Given the description of an element on the screen output the (x, y) to click on. 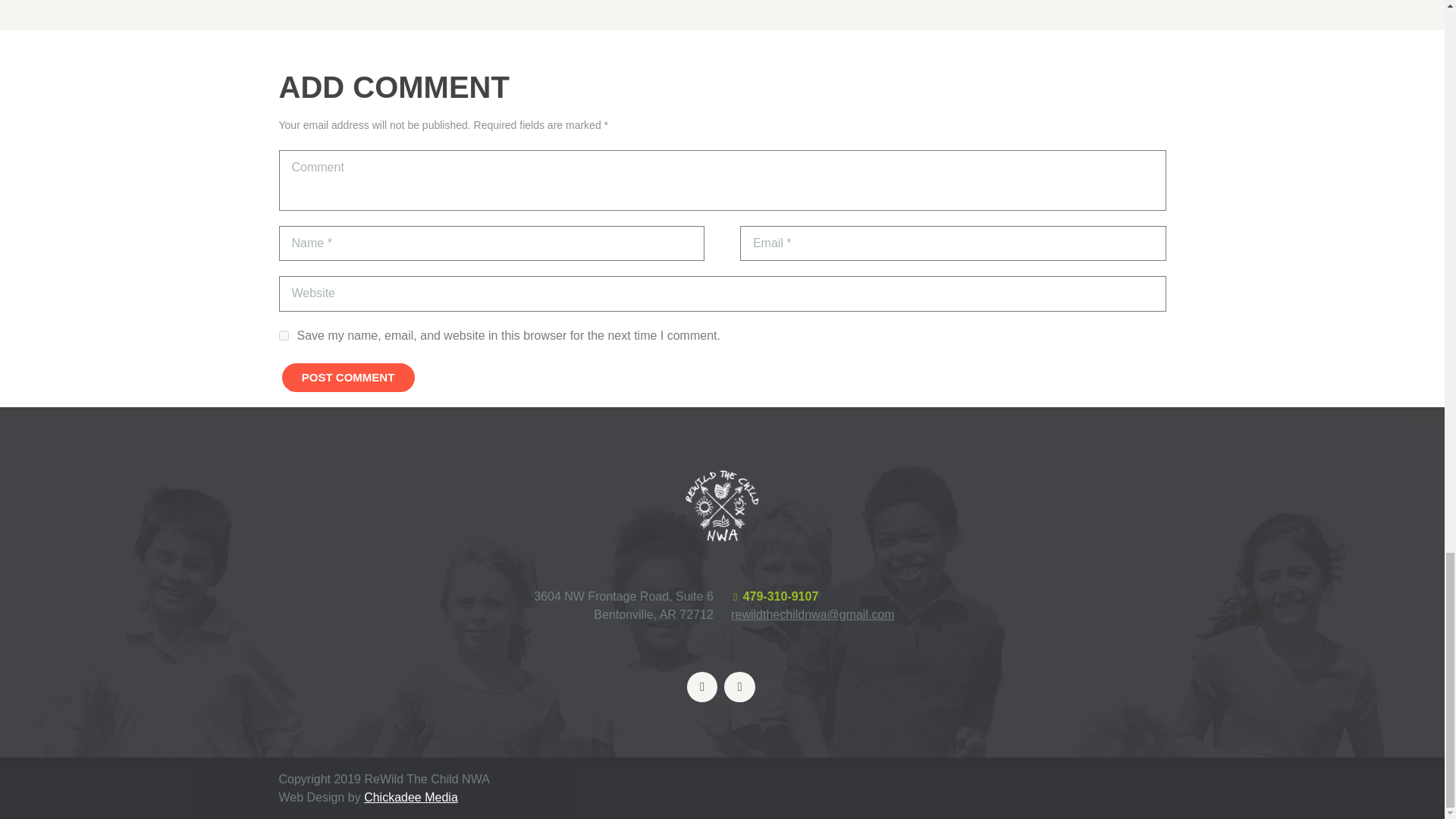
yes (283, 335)
Post Comment (348, 377)
479-310-9107 (780, 595)
Chickadee Media (411, 797)
Post Comment (348, 377)
